Given the description of an element on the screen output the (x, y) to click on. 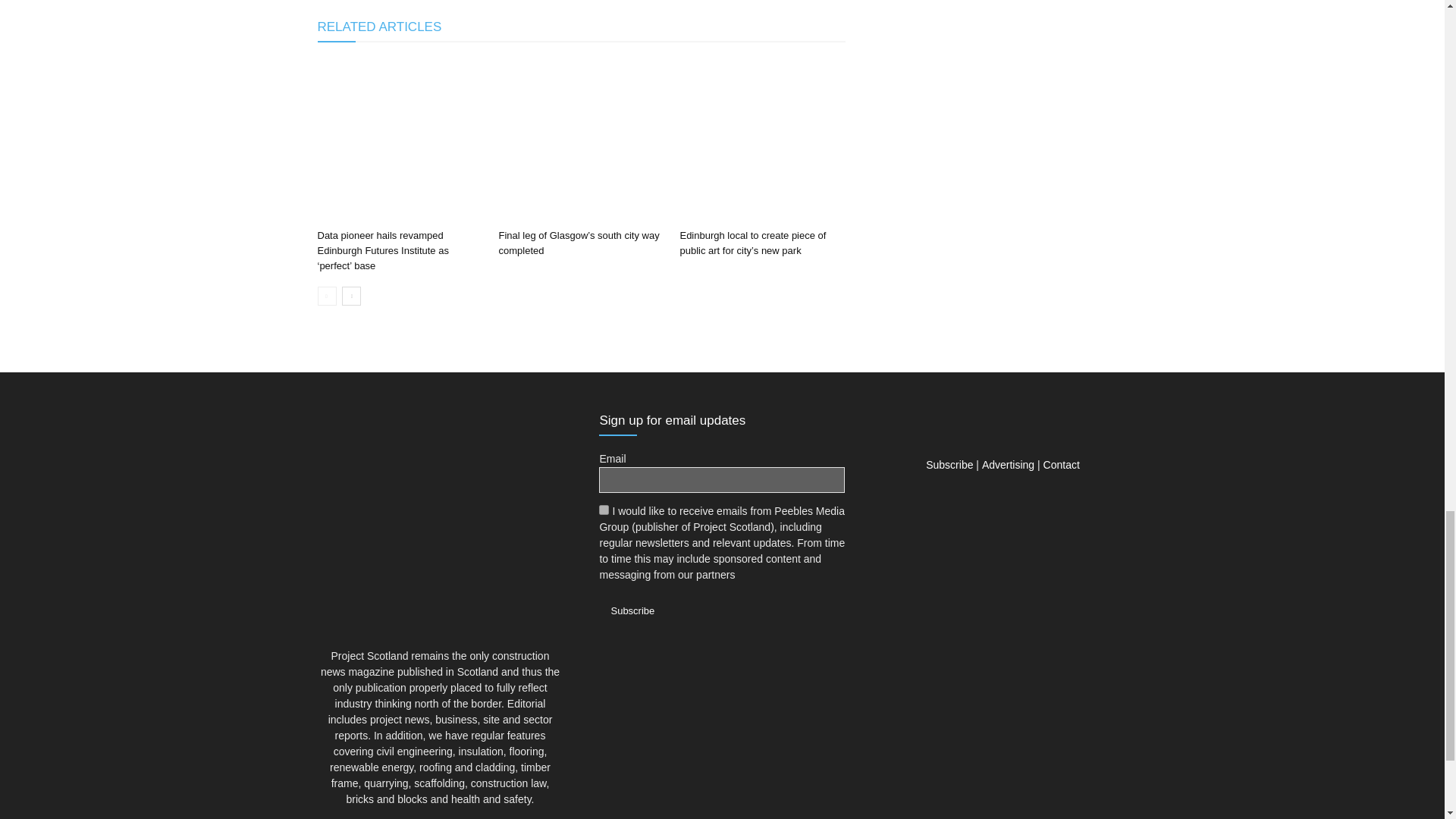
Subscribe (631, 610)
on (603, 510)
